Given the description of an element on the screen output the (x, y) to click on. 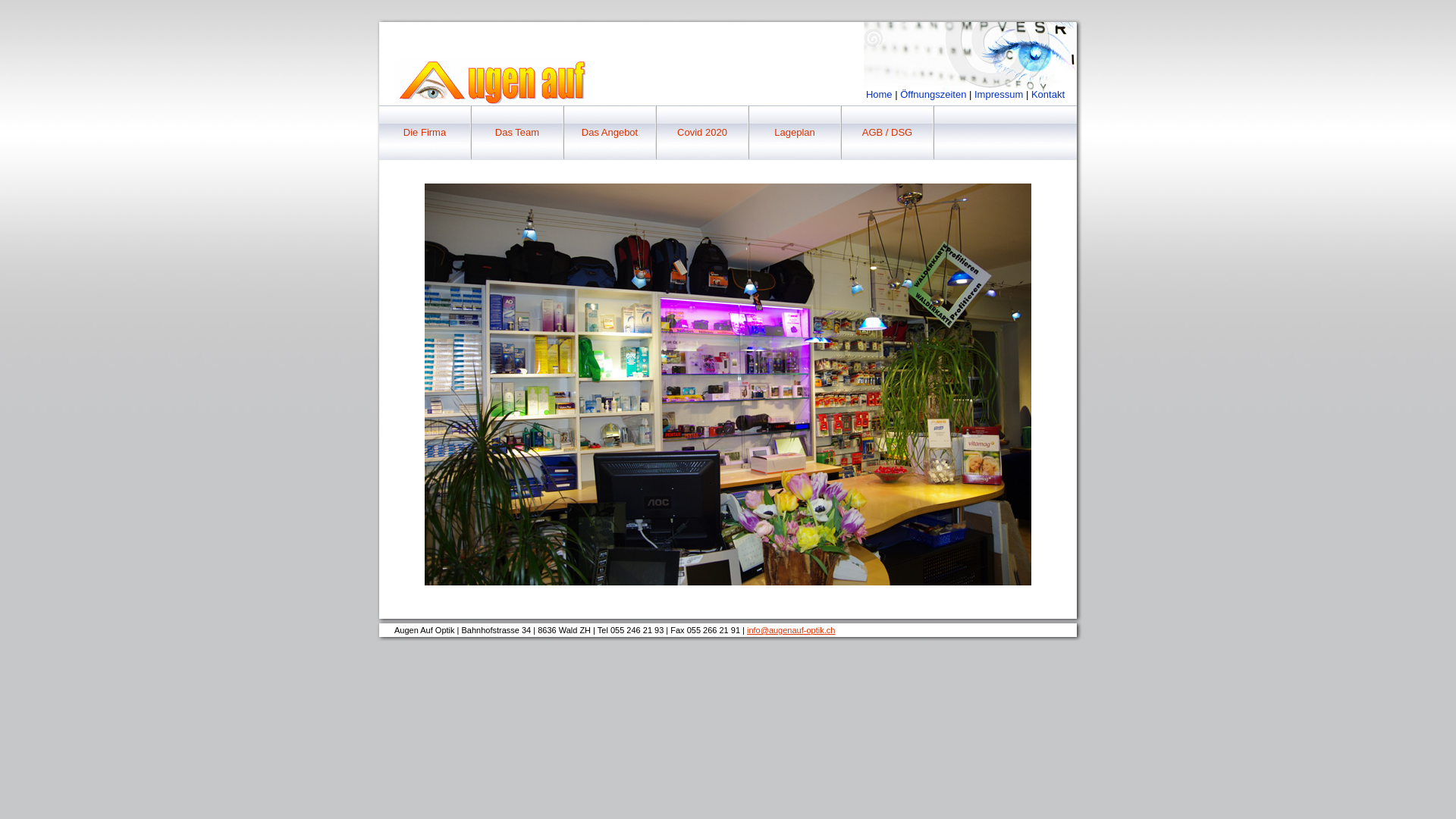
info@augenauf-optik.ch Element type: text (790, 629)
Home Element type: text (879, 94)
Die Firma Element type: text (424, 132)
Impressum Element type: text (998, 94)
Das Angebot Element type: text (609, 132)
Kontakt Element type: text (1047, 94)
Das Team Element type: text (516, 132)
Lageplan Element type: text (794, 132)
AGB / DSG Element type: text (886, 132)
Covid 2020 Element type: text (701, 132)
